Given the description of an element on the screen output the (x, y) to click on. 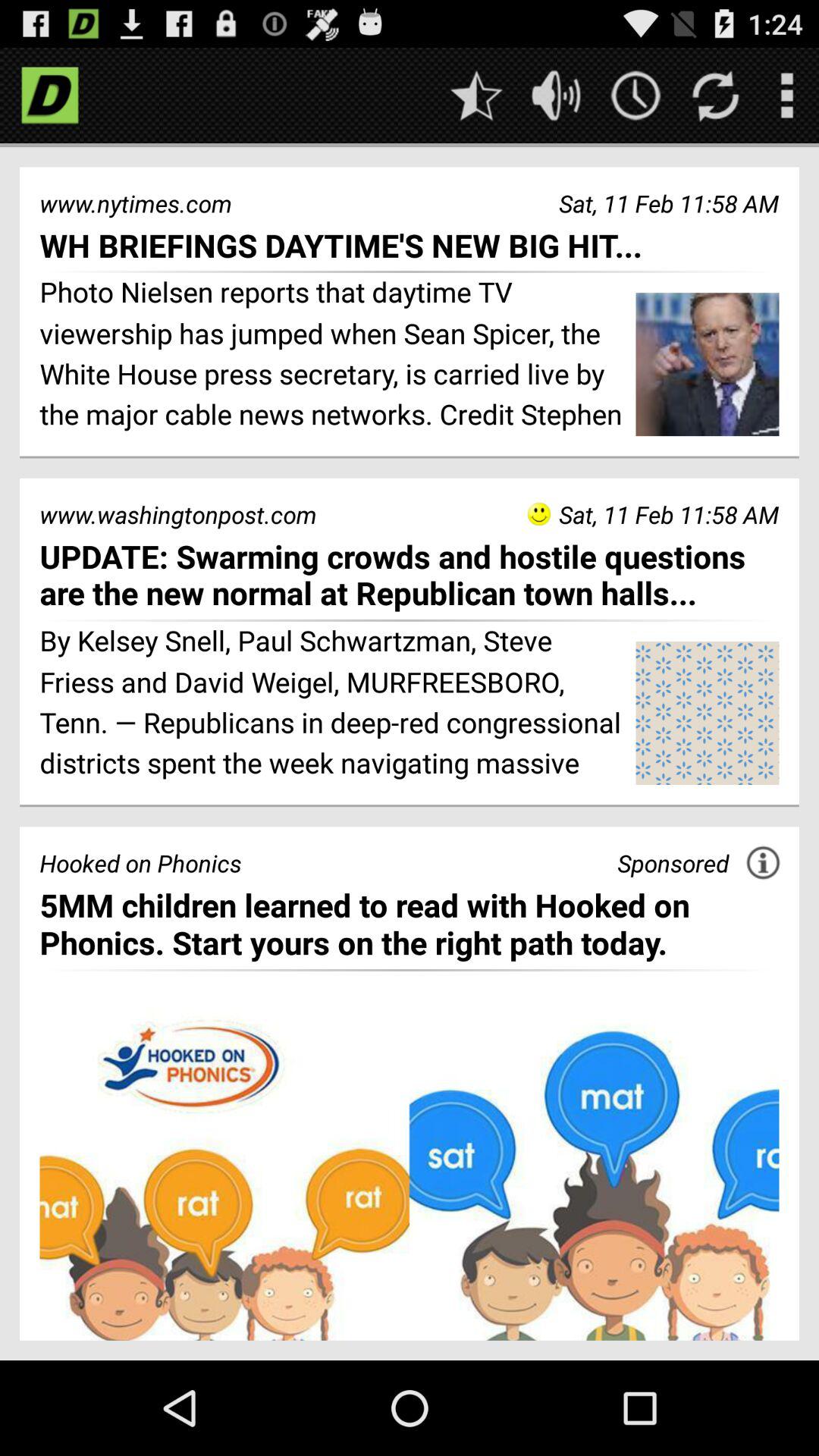
select by kelsey snell (332, 704)
